Given the description of an element on the screen output the (x, y) to click on. 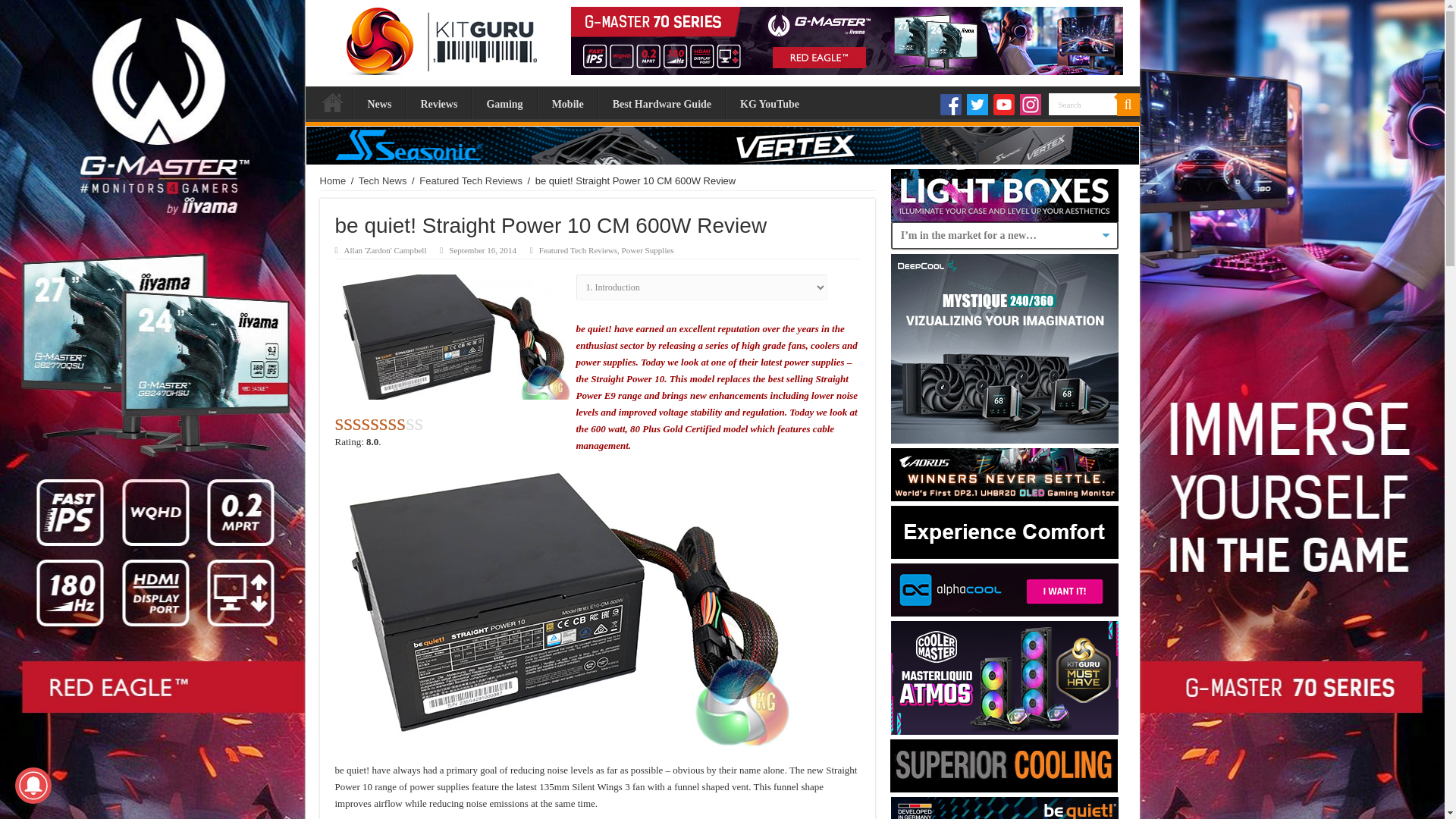
Search (1127, 104)
Search (1082, 104)
Featured Tech Reviews (470, 180)
Search (1082, 104)
Tech News (382, 180)
Search (1082, 104)
Youtube (1003, 104)
Instagram (1030, 104)
News (379, 101)
Home (332, 101)
